Given the description of an element on the screen output the (x, y) to click on. 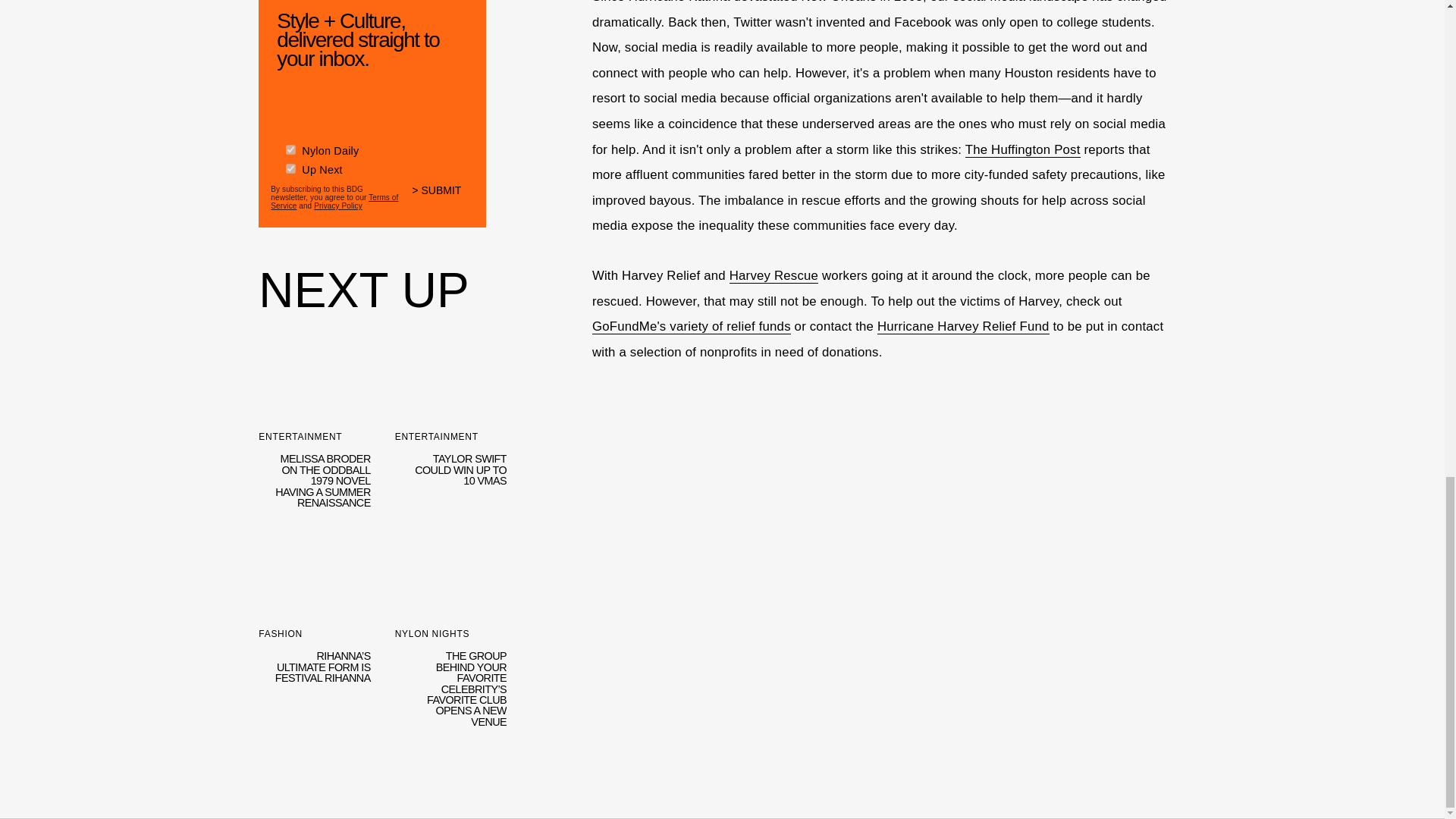
Hurricane Harvey Relief Fund (963, 326)
The Huffington Post (1022, 150)
Harvey Rescue (773, 275)
Terms of Service (333, 201)
Privacy Policy (338, 205)
SUBMIT (443, 200)
GoFundMe's variety of relief funds (450, 433)
